Given the description of an element on the screen output the (x, y) to click on. 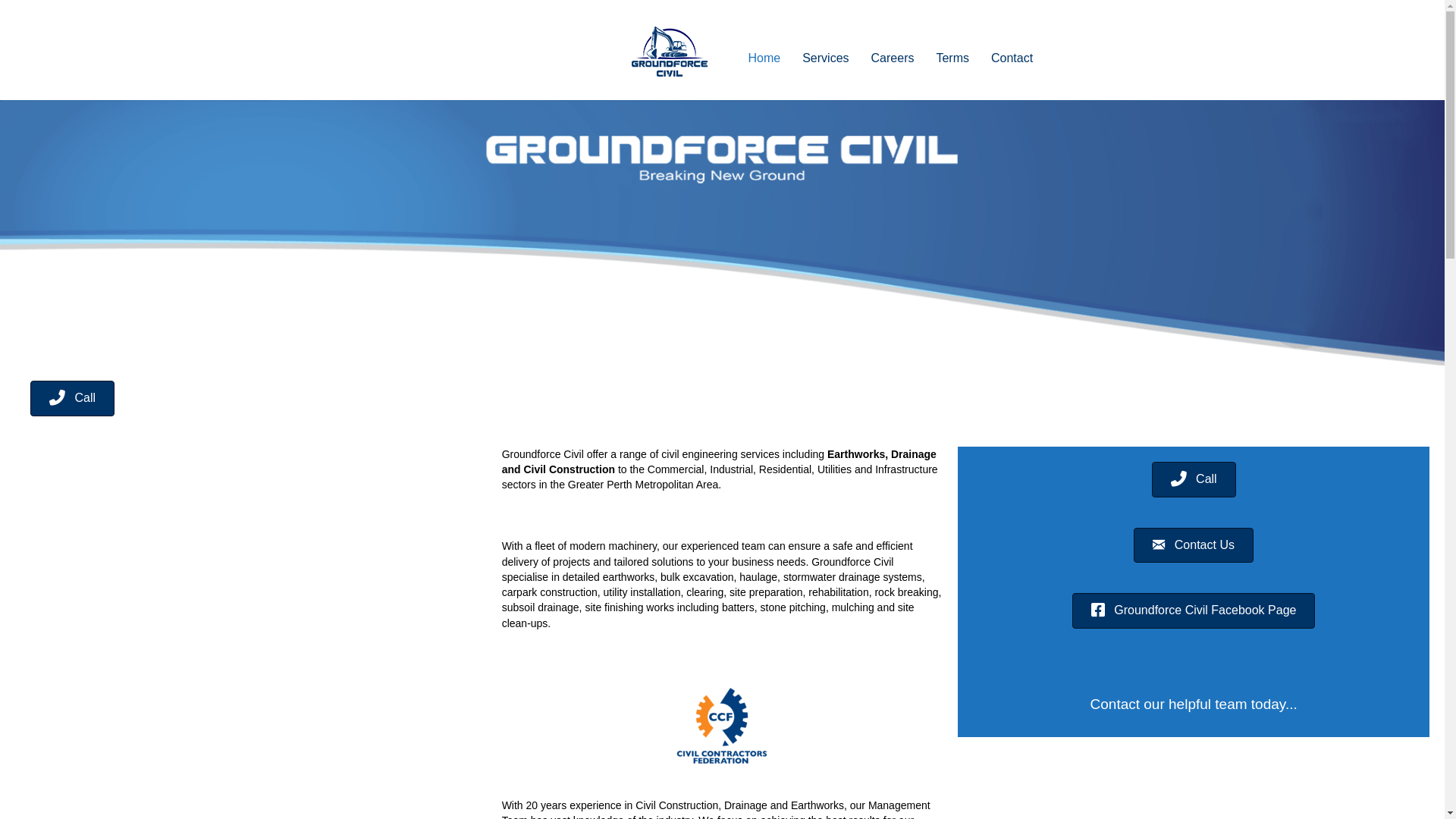
Contact Us Element type: text (1193, 545)
Call Element type: text (72, 398)
Groundforce logo 300dpi thumb blue Element type: hover (668, 51)
Services Element type: text (825, 58)
Groundforce Civil Facebook Page Element type: text (1193, 610)
Careers Element type: text (892, 58)
Terms Element type: text (952, 58)
Call Element type: text (1193, 479)
Home Element type: text (763, 58)
CCF Element type: hover (721, 725)
Contact Element type: text (1011, 58)
